Given the description of an element on the screen output the (x, y) to click on. 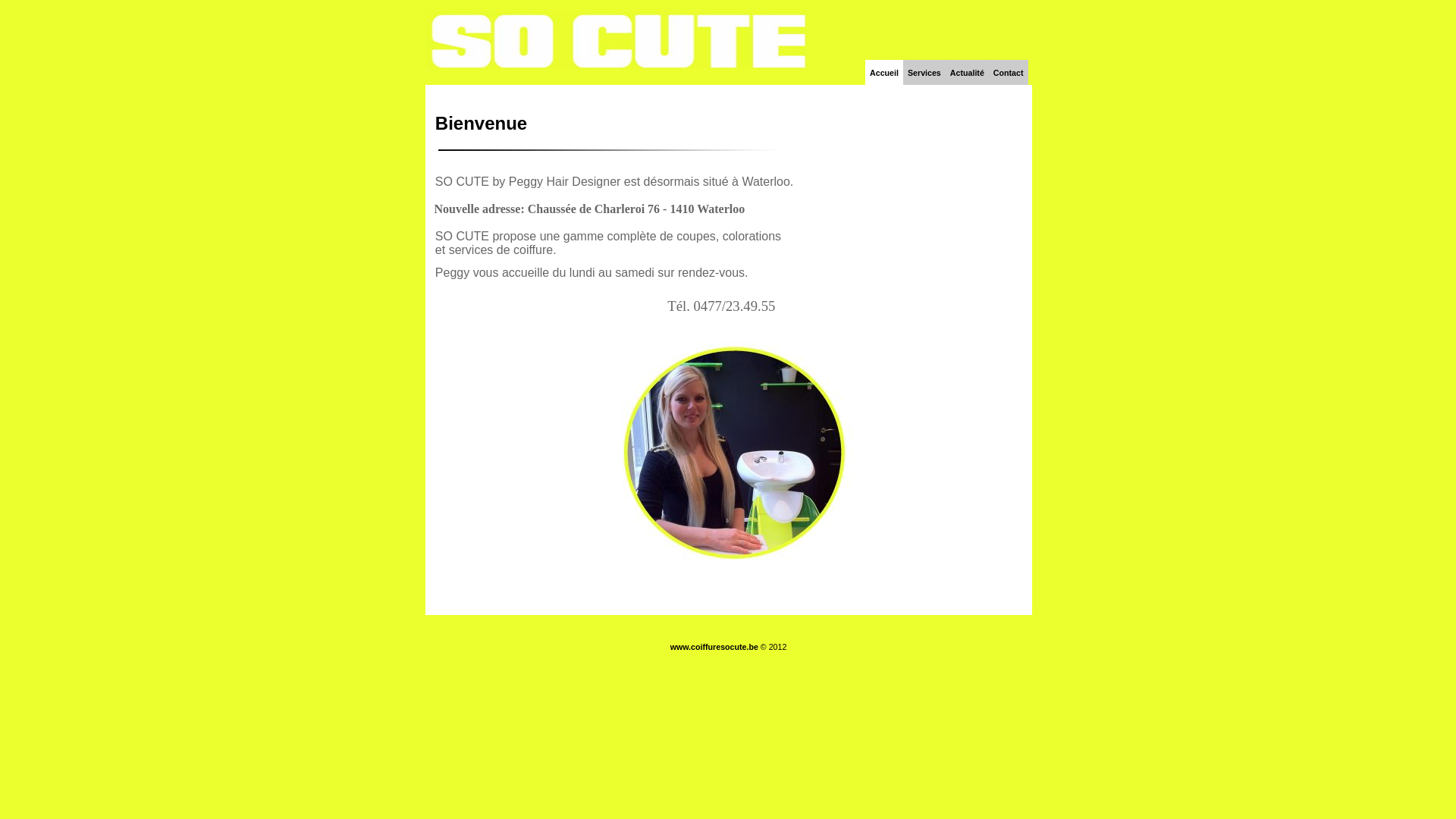
Services Element type: text (924, 72)
www.coiffuresocute.be Element type: text (714, 646)
Accueil Element type: text (883, 72)
Contact Element type: text (1008, 72)
